Given the description of an element on the screen output the (x, y) to click on. 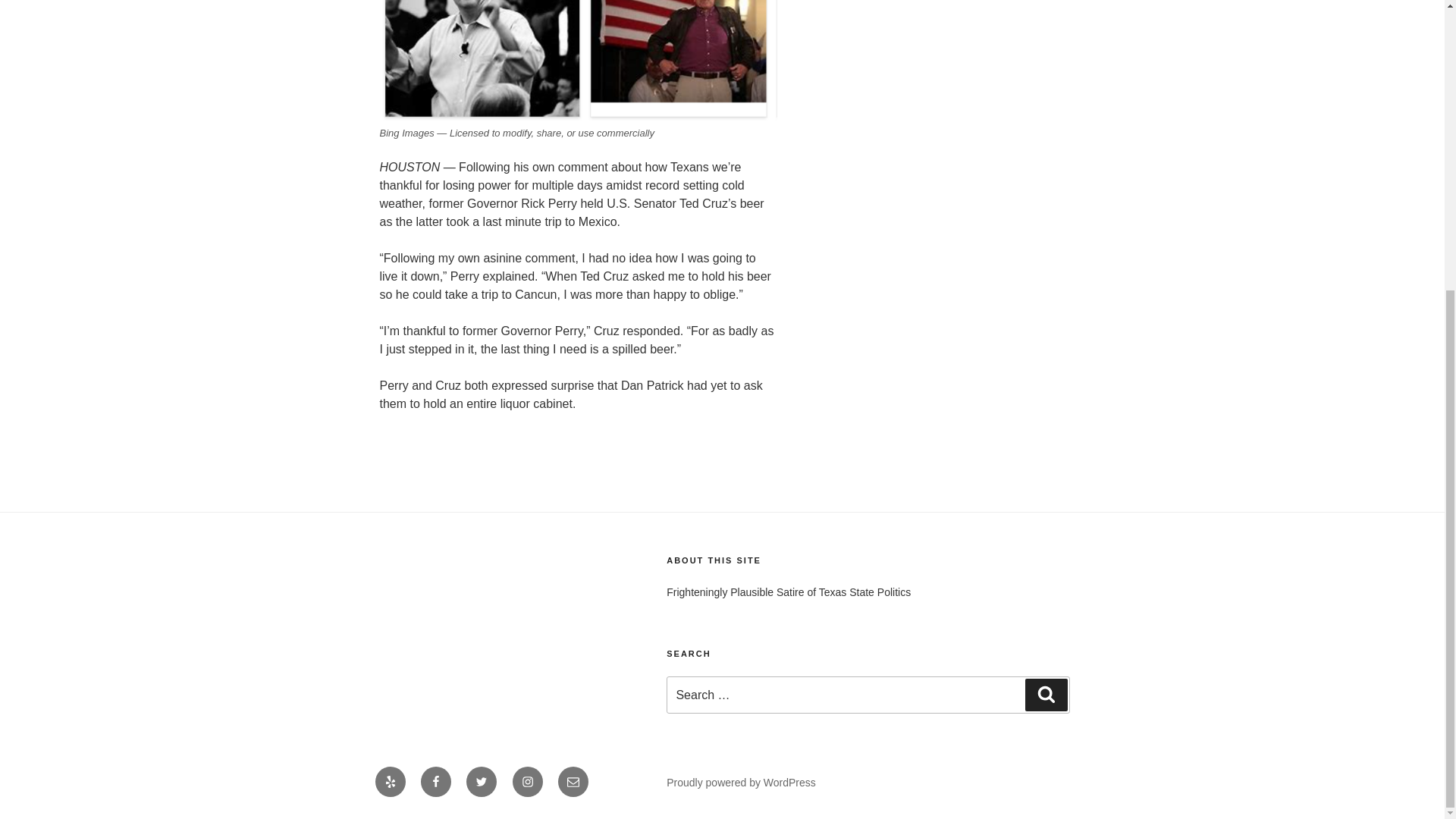
Email (572, 781)
Search (1046, 694)
Instagram (527, 781)
Twitter (480, 781)
Proudly powered by WordPress (740, 782)
Yelp (389, 781)
Facebook (435, 781)
